Given the description of an element on the screen output the (x, y) to click on. 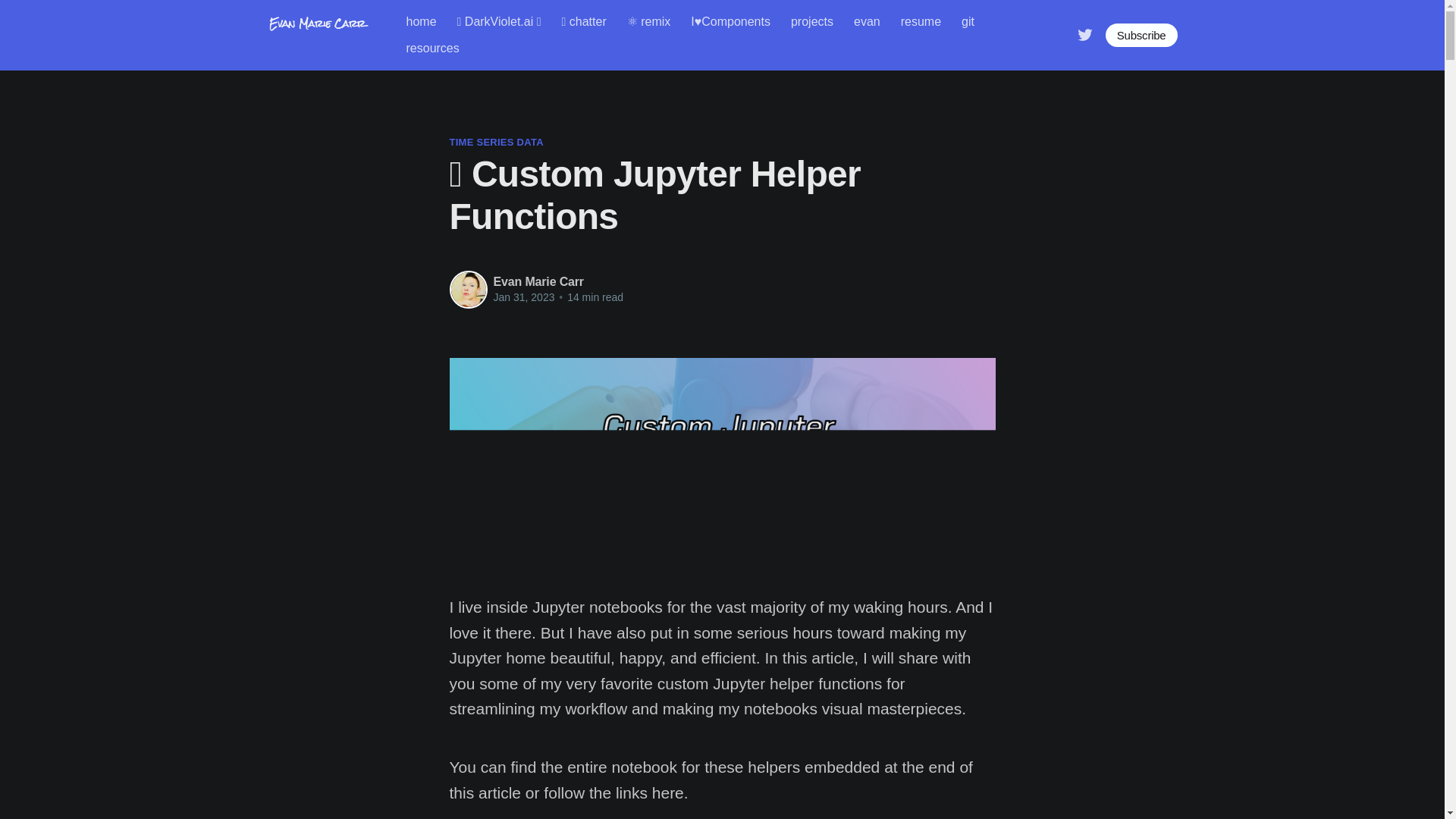
resume (920, 22)
Evan Marie Carr (538, 281)
TIME SERIES DATA (495, 142)
home (421, 22)
Subscribe (1141, 34)
evan (866, 22)
Twitter (1085, 33)
projects (811, 22)
resources (433, 48)
